Given the description of an element on the screen output the (x, y) to click on. 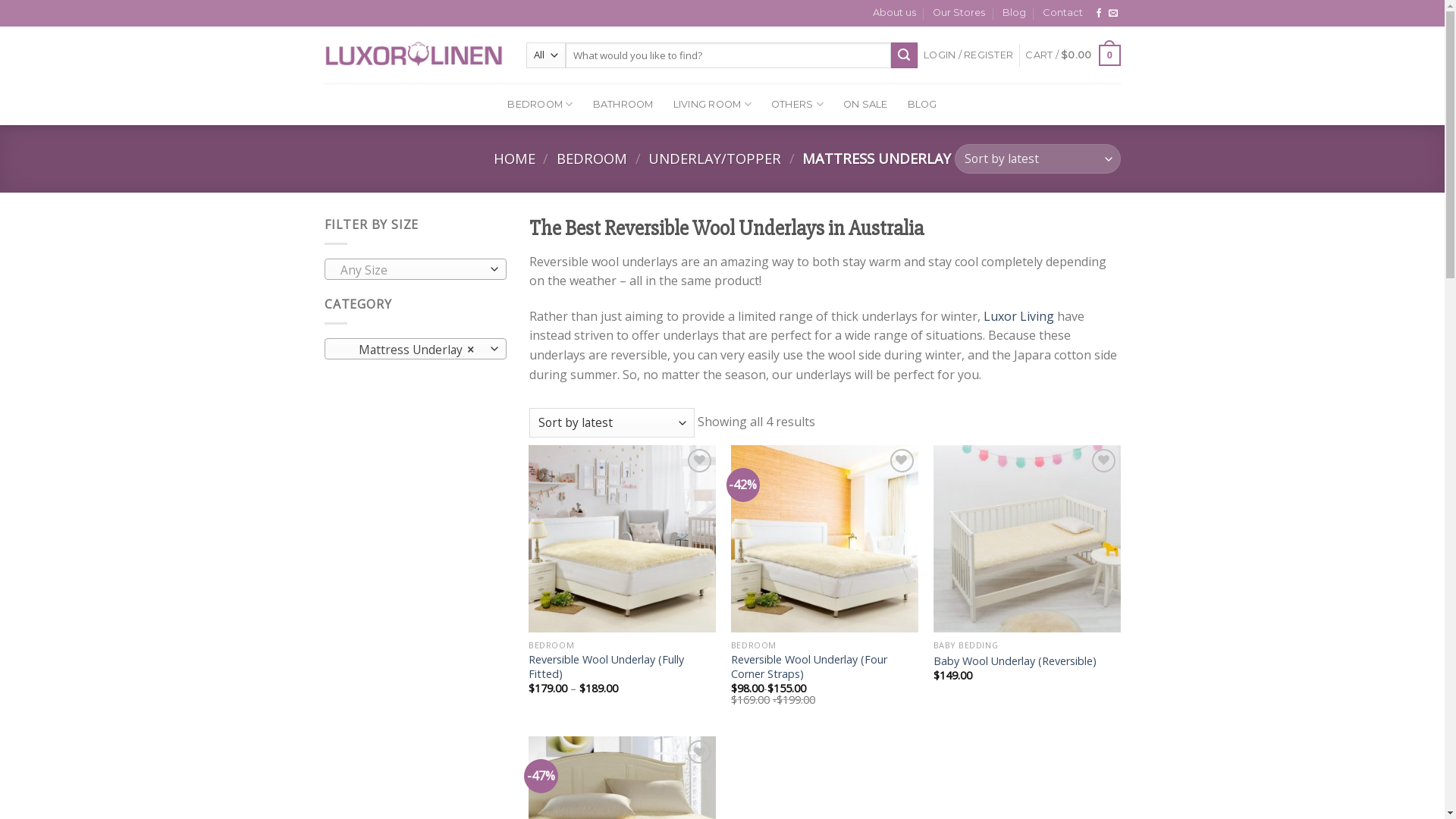
BEDROOM Element type: text (539, 104)
LIVING ROOM Element type: text (712, 104)
BLOG Element type: text (922, 104)
Baby Wool Underlay (Reversible) Element type: text (1014, 661)
Contact Element type: text (1062, 12)
Luxor Living Element type: text (1017, 315)
ON SALE Element type: text (865, 104)
CART / $0.00
0 Element type: text (1072, 55)
Send us an email Element type: hover (1112, 13)
Our Stores Element type: text (958, 12)
HOME Element type: text (514, 157)
Luxor Linen - Wool Quilt, Quilt Cover, Sheet Sets, Bed Linen Element type: hover (413, 54)
Follow on Facebook Element type: hover (1098, 13)
BEDROOM Element type: text (591, 157)
OTHERS Element type: text (797, 104)
UNDERLAY/TOPPER Element type: text (714, 157)
About us Element type: text (894, 12)
Reversible Wool Underlay (Four Corner Straps) Element type: text (824, 666)
BATHROOM Element type: text (623, 104)
Search Element type: text (903, 55)
Reversible Wool Underlay (Fully Fitted) Element type: text (621, 666)
LOGIN / REGISTER Element type: text (968, 55)
Blog Element type: text (1014, 12)
